Given the description of an element on the screen output the (x, y) to click on. 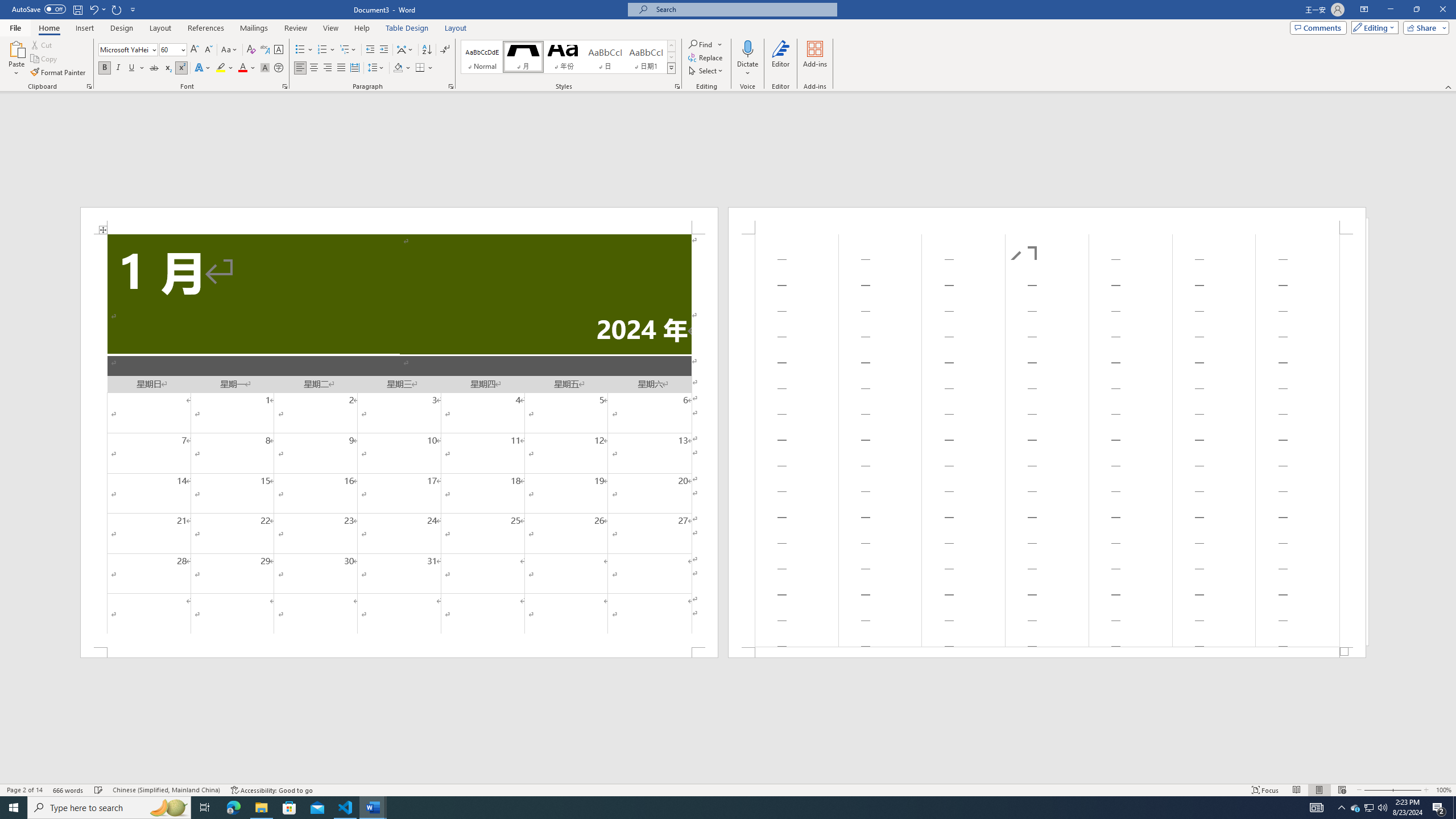
Font Size (172, 49)
Line and Paragraph Spacing (376, 67)
Footer -Section 1- (1046, 652)
Asian Layout (405, 49)
Office Clipboard... (88, 85)
Accessibility Checker Accessibility: Good to go (271, 790)
Focus  (1265, 790)
Comments (1318, 27)
Multilevel List (347, 49)
Font Size (169, 49)
Zoom In (1407, 790)
Shrink Font (208, 49)
Format Painter (58, 72)
